Given the description of an element on the screen output the (x, y) to click on. 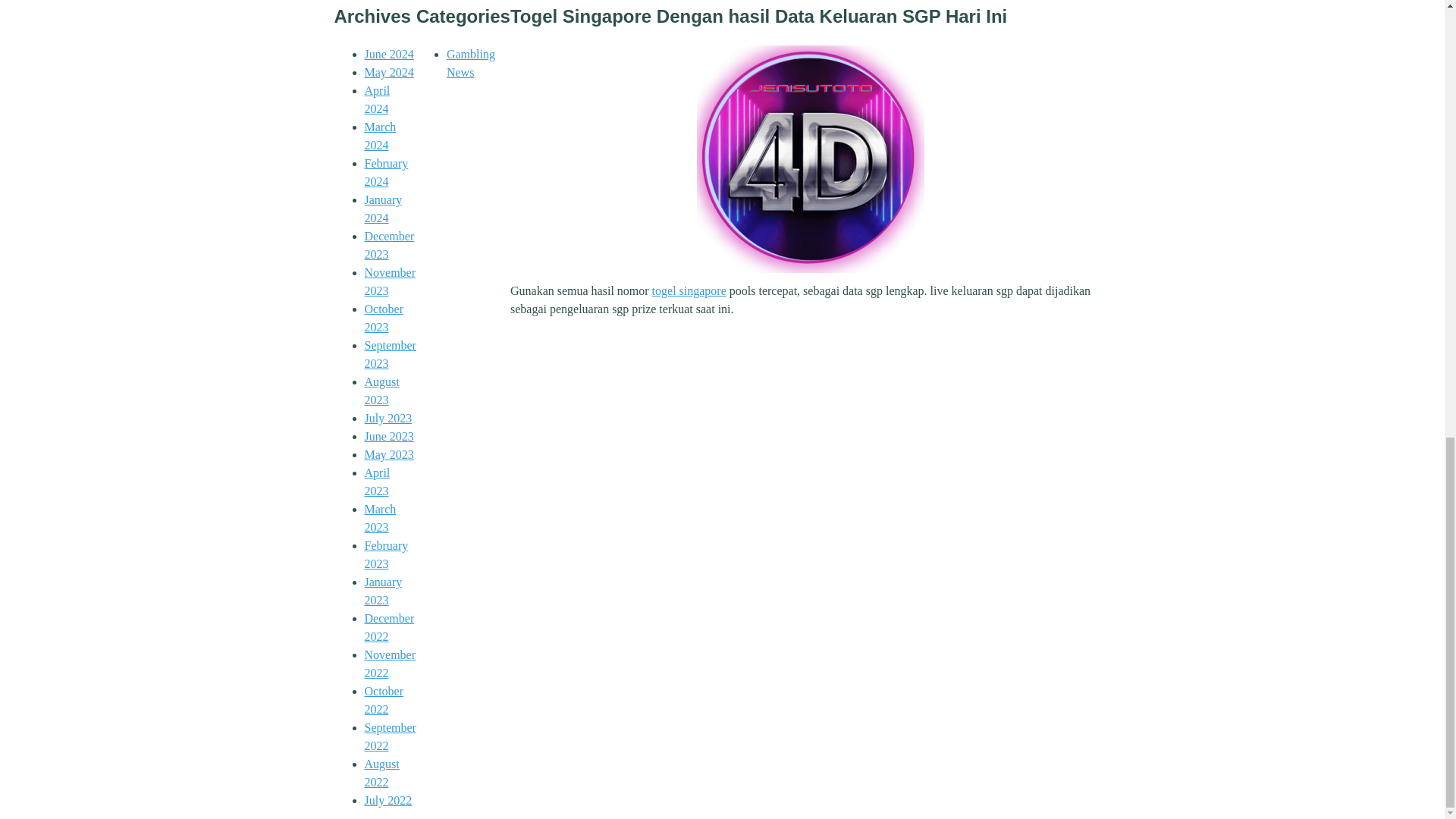
December 2023 (388, 245)
November 2023 (389, 281)
October 2022 (383, 699)
July 2022 (388, 799)
May 2023 (388, 454)
September 2022 (389, 736)
November 2022 (389, 663)
togel singapore (810, 158)
February 2024 (385, 172)
September 2023 (389, 354)
